Given the description of an element on the screen output the (x, y) to click on. 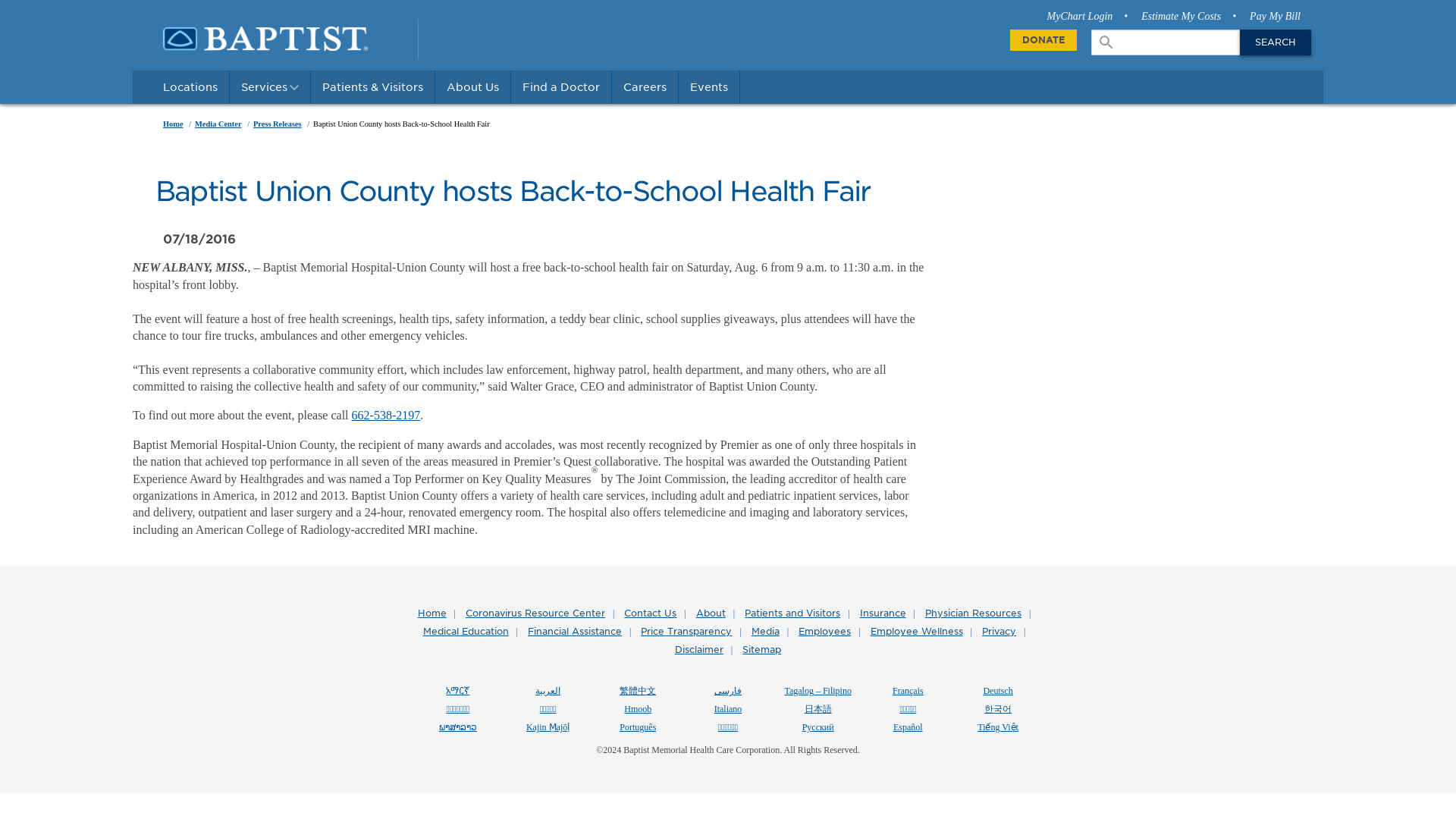
MyChart Login (1087, 16)
SEARCH (1275, 42)
Locations (189, 86)
Locations (189, 86)
DONATE (1043, 39)
Pay My Bill (1274, 16)
Estimate My Costs (1188, 16)
